Given the description of an element on the screen output the (x, y) to click on. 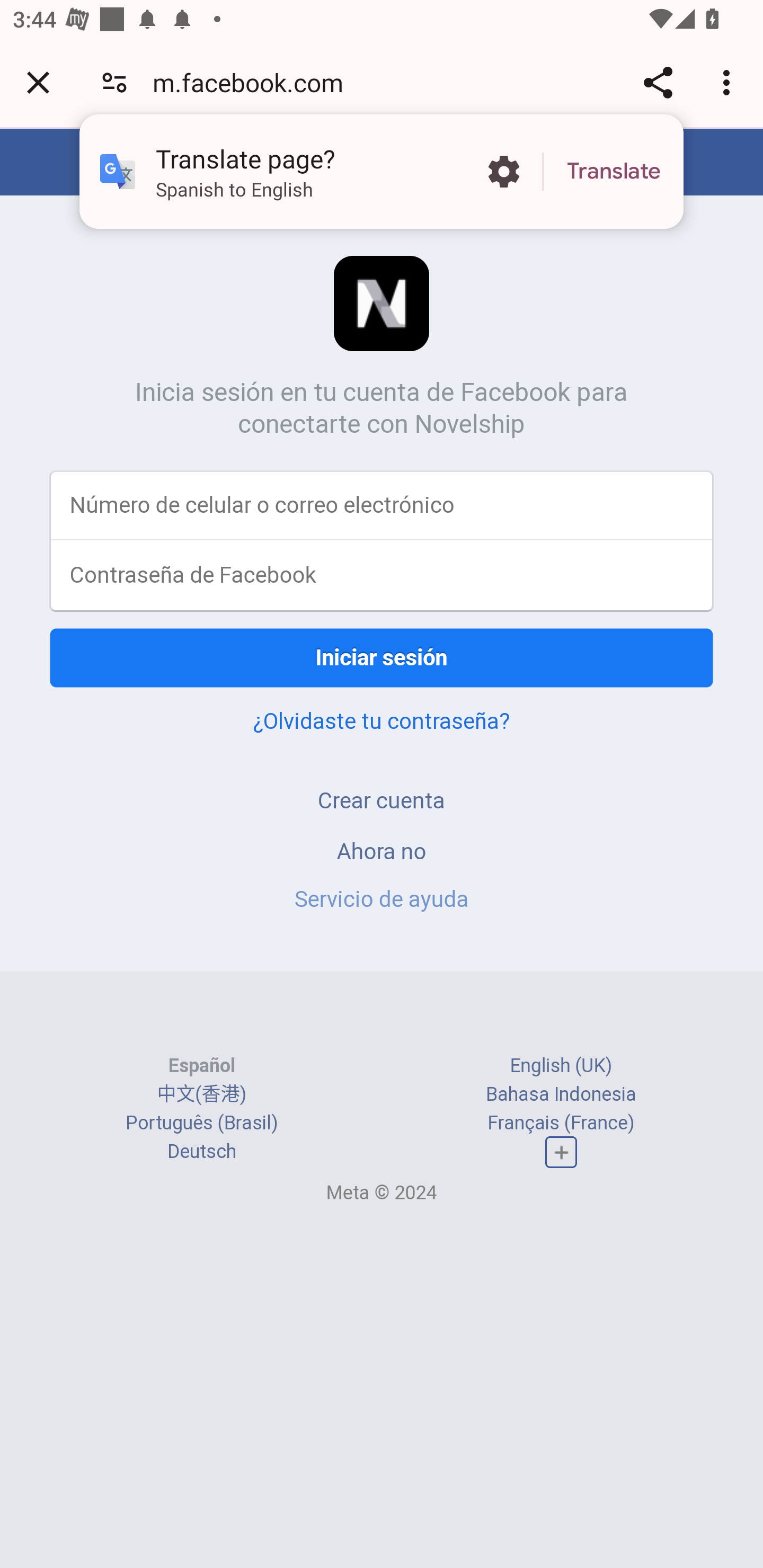
Close tab (38, 82)
Share (657, 82)
Customize and control Google Chrome (729, 82)
Connection is secure (114, 81)
m.facebook.com (254, 81)
Translate (613, 171)
More options in the Translate page? (503, 171)
Iniciar sesión (381, 657)
¿Olvidaste tu contraseña? (381, 720)
Crear cuenta (381, 800)
Ahora no (381, 850)
Servicio de ayuda (381, 898)
English (UK) (560, 1065)
中文(香港) (201, 1093)
Bahasa Indonesia (560, 1093)
Português (Brasil) (201, 1122)
Français (France) (560, 1122)
Lista completa de idiomas (560, 1152)
Deutsch (201, 1151)
